Given the description of an element on the screen output the (x, y) to click on. 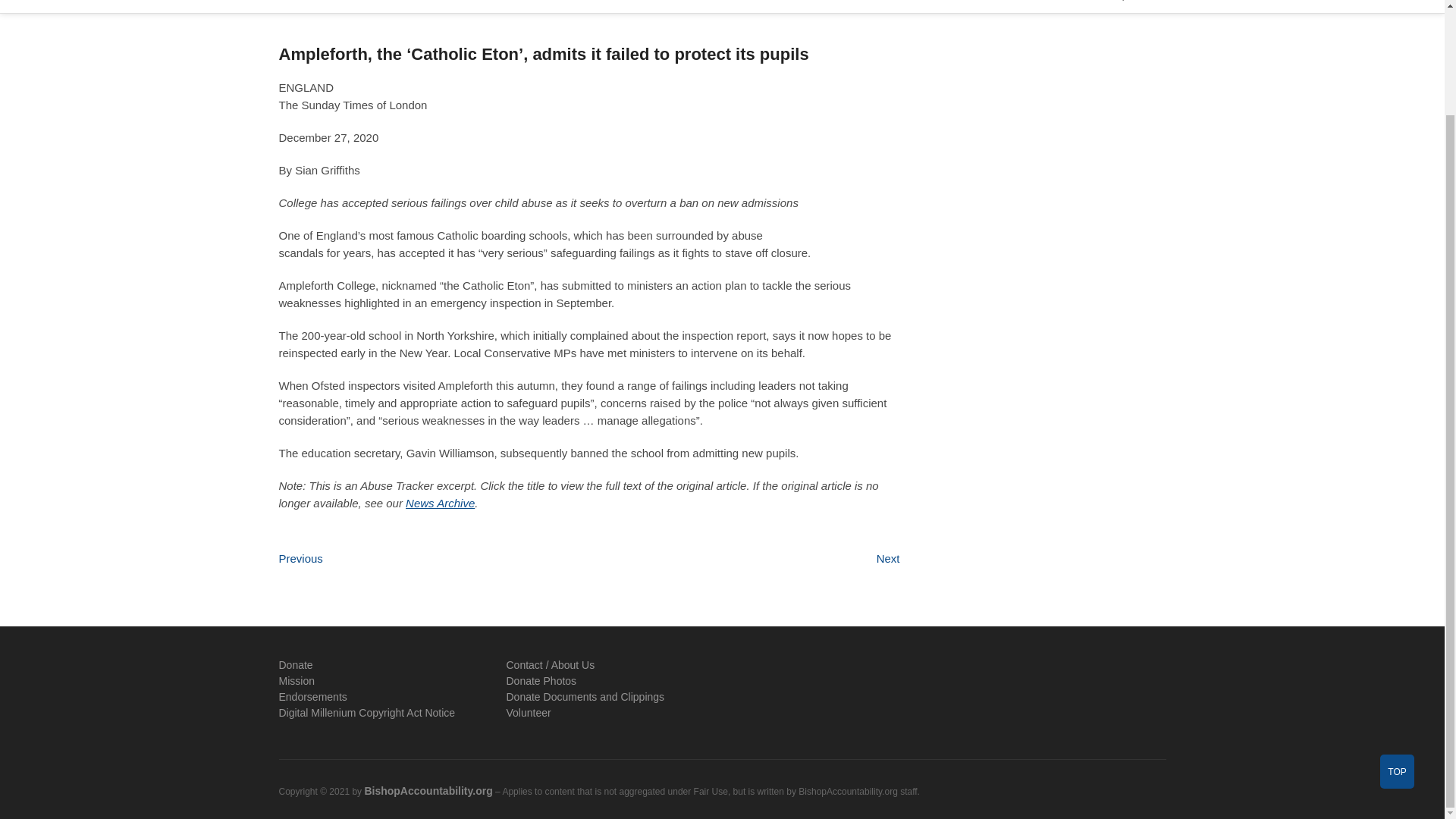
ACCUSED (375, 6)
OUR RESEARCH (825, 6)
WITNESS (730, 6)
CHURCH ACTIONS (479, 6)
NEWS (306, 6)
LEGAL (573, 6)
FINANCIAL (648, 6)
